Given the description of an element on the screen output the (x, y) to click on. 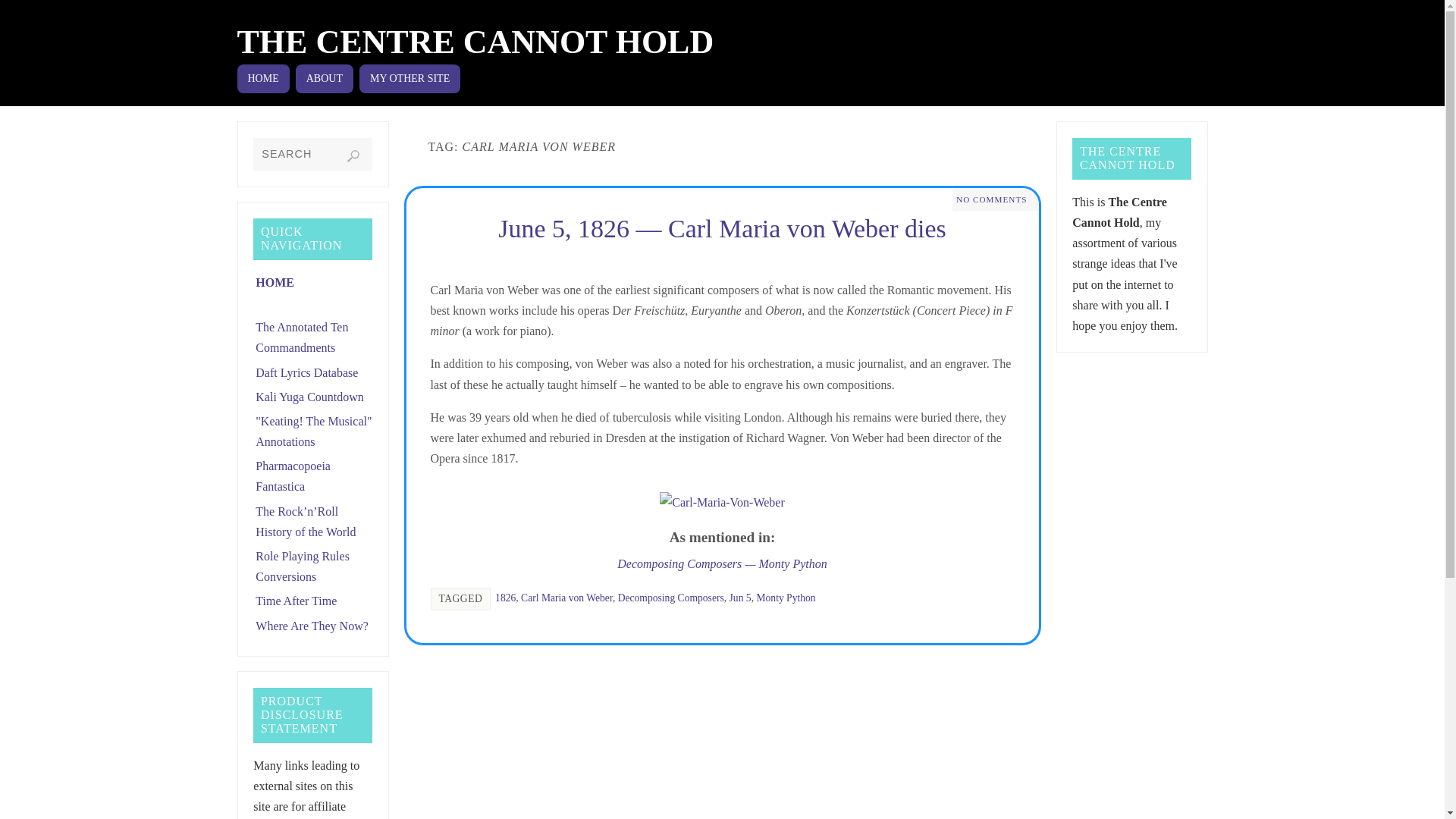
THE CENTRE CANNOT HOLD (474, 42)
Daft Lyrics Database (307, 371)
1826 (505, 597)
Time After Time (296, 600)
Role Playing Rules Conversions (302, 566)
The Centre Cannot Hold (474, 42)
NO COMMENTS (991, 198)
Pharmacopoeia Fantastica (293, 476)
MY OTHER SITE (409, 78)
Where Are They Now? (312, 625)
ABOUT (324, 78)
Jun 5 (740, 597)
"Keating! The Musical" Annotations (313, 430)
HOME (261, 78)
